Given the description of an element on the screen output the (x, y) to click on. 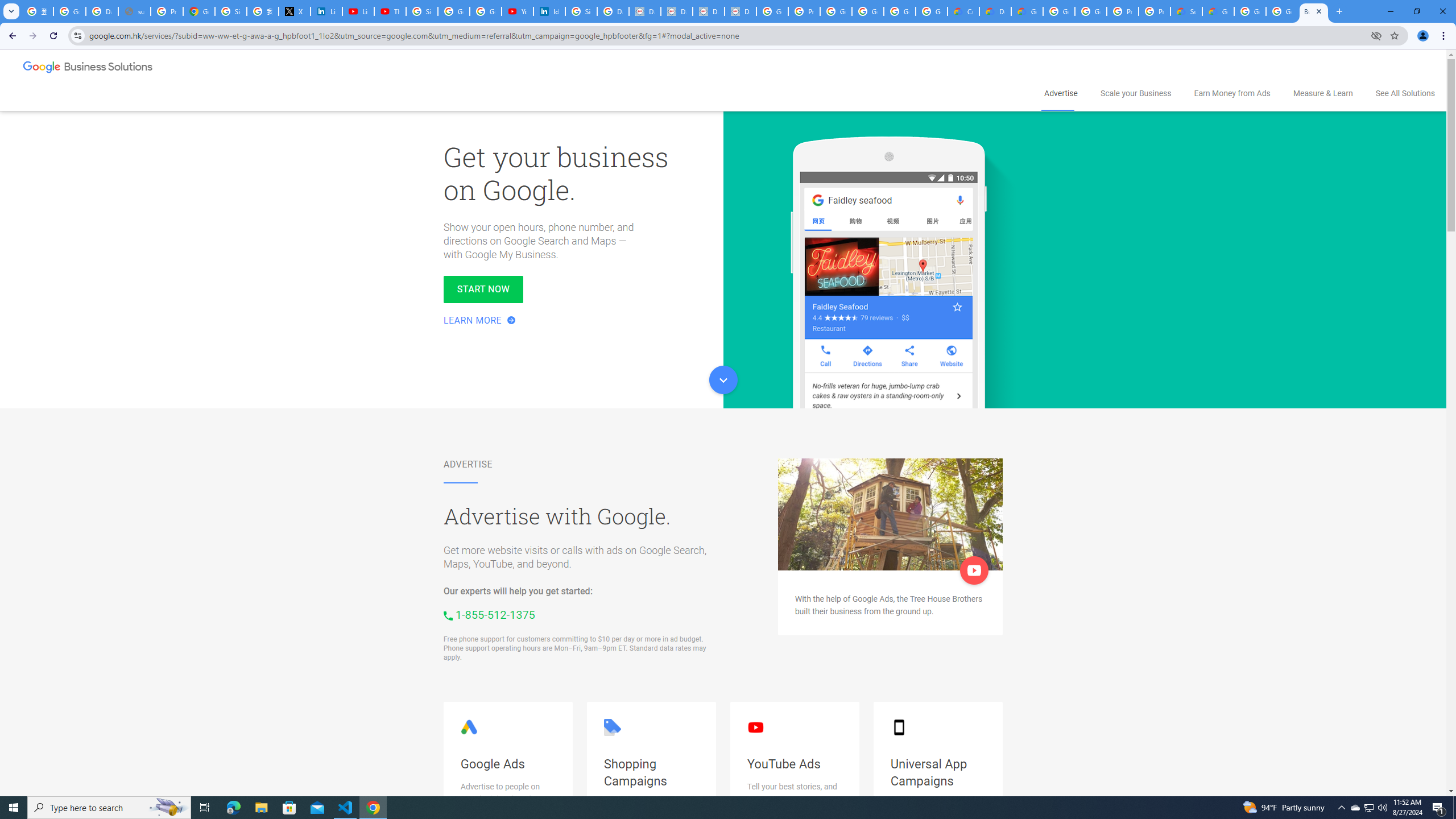
Scale your Business (1135, 93)
